Given the description of an element on the screen output the (x, y) to click on. 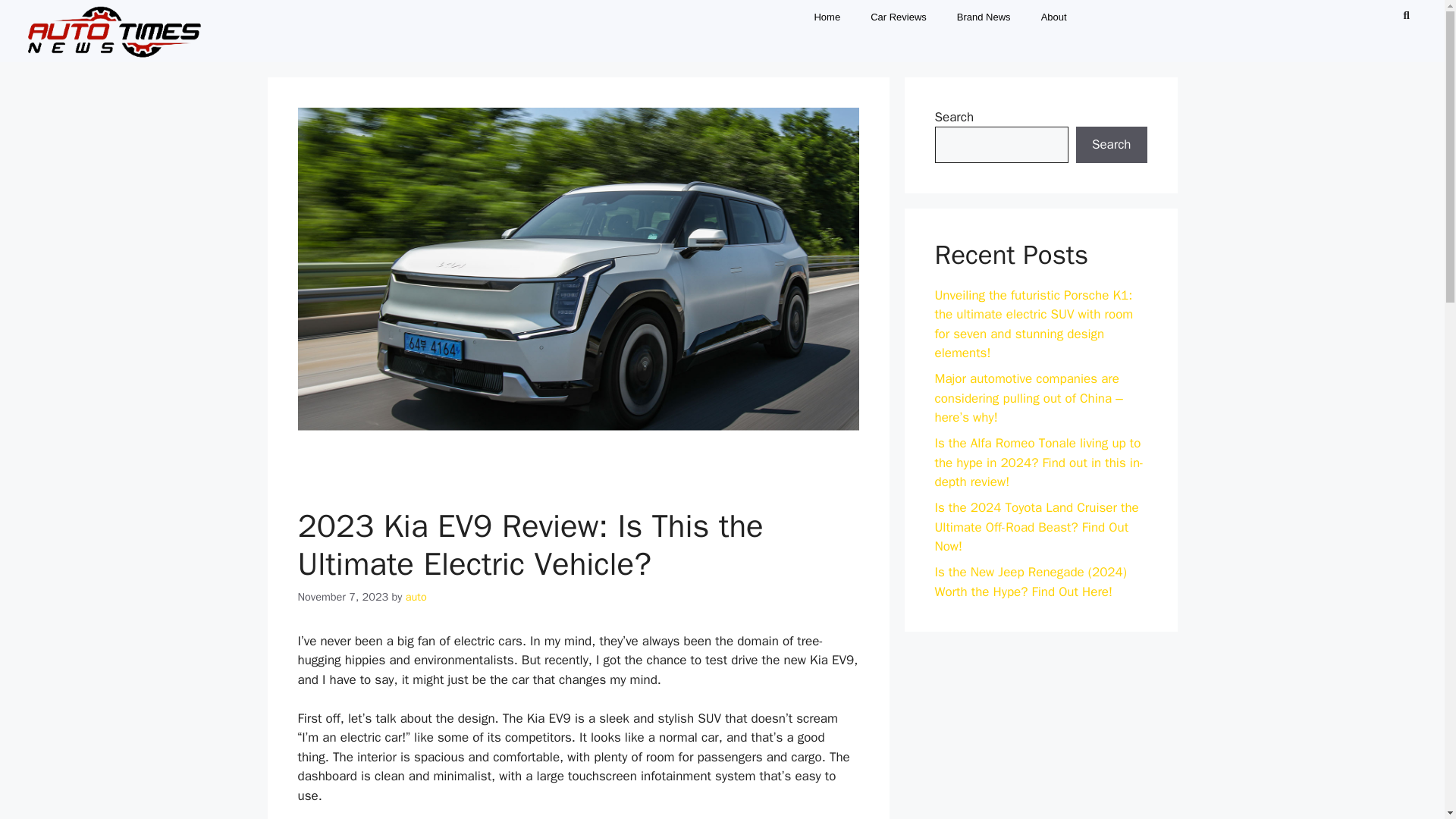
View all posts by auto (416, 596)
Brand News (984, 17)
Home (826, 17)
auto (416, 596)
About (1053, 17)
Car Reviews (899, 17)
